Given the description of an element on the screen output the (x, y) to click on. 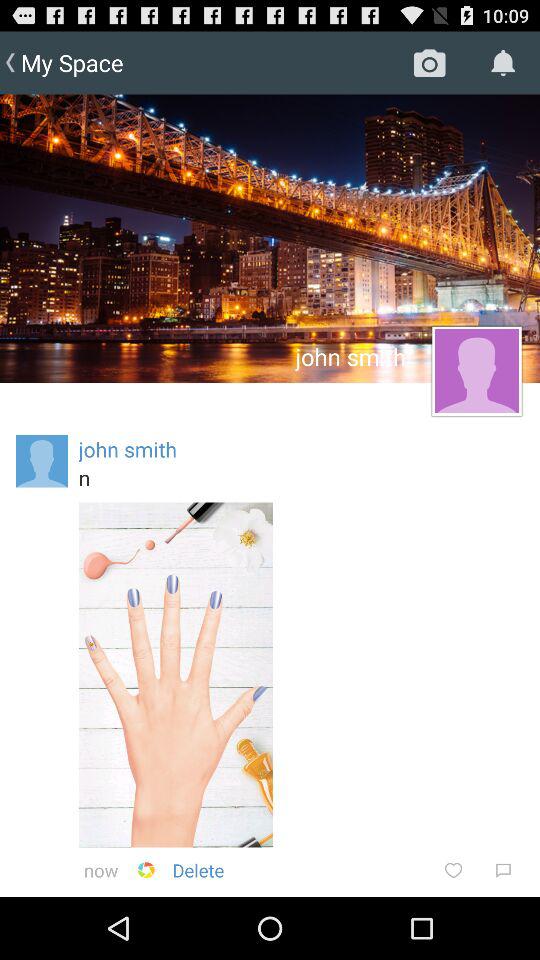
press the delete (198, 870)
